Given the description of an element on the screen output the (x, y) to click on. 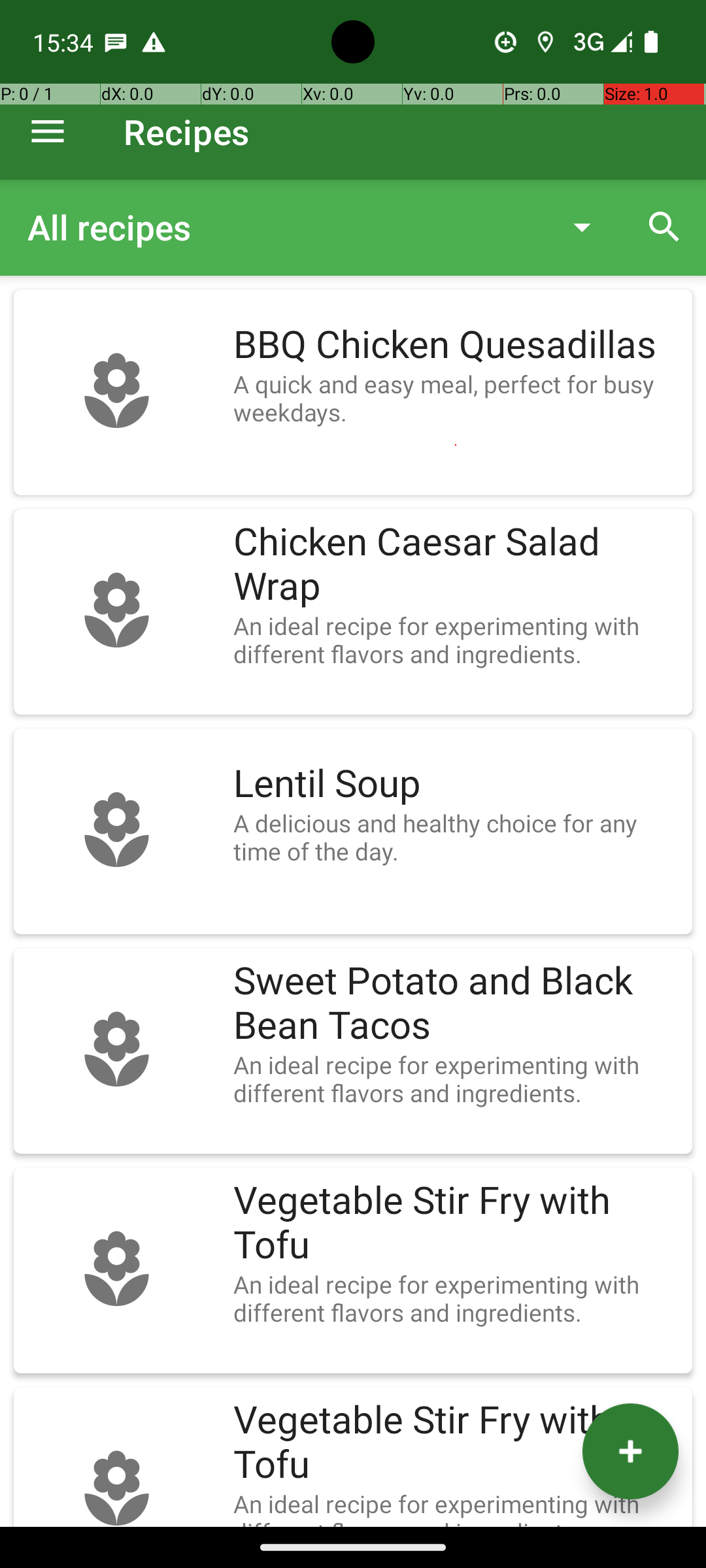
Chicken Caesar Salad Wrap Element type: android.widget.TextView (455, 564)
Sweet Potato and Black Bean Tacos Element type: android.widget.TextView (455, 1003)
Vegetable Stir Fry with Tofu Element type: android.widget.TextView (455, 1222)
